Given the description of an element on the screen output the (x, y) to click on. 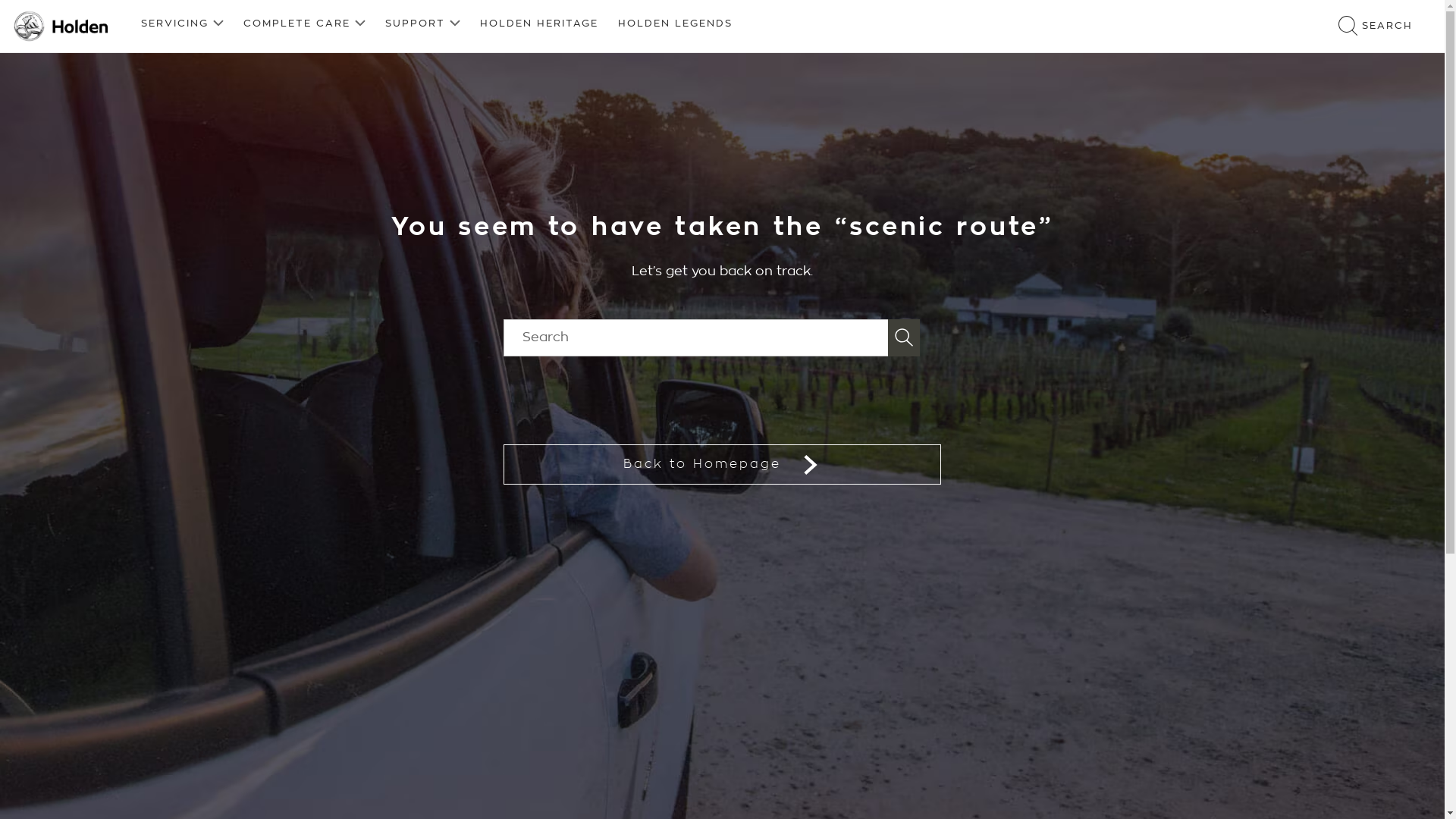
Search Element type: hover (695, 337)
Go Element type: hover (903, 337)
Back to Homepage Element type: text (722, 464)
